Given the description of an element on the screen output the (x, y) to click on. 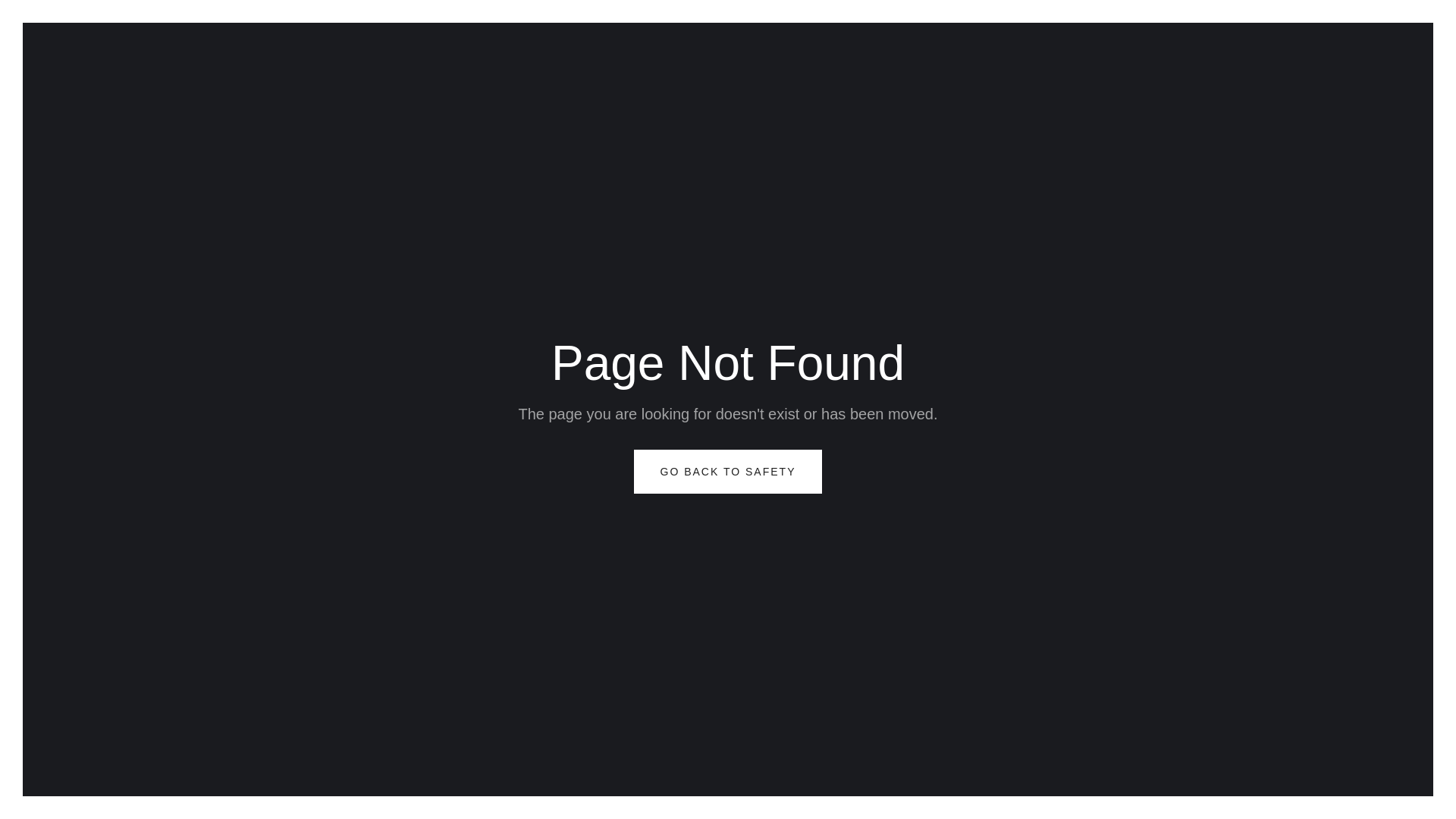
GO BACK TO SAFETY Element type: text (727, 471)
